Given the description of an element on the screen output the (x, y) to click on. 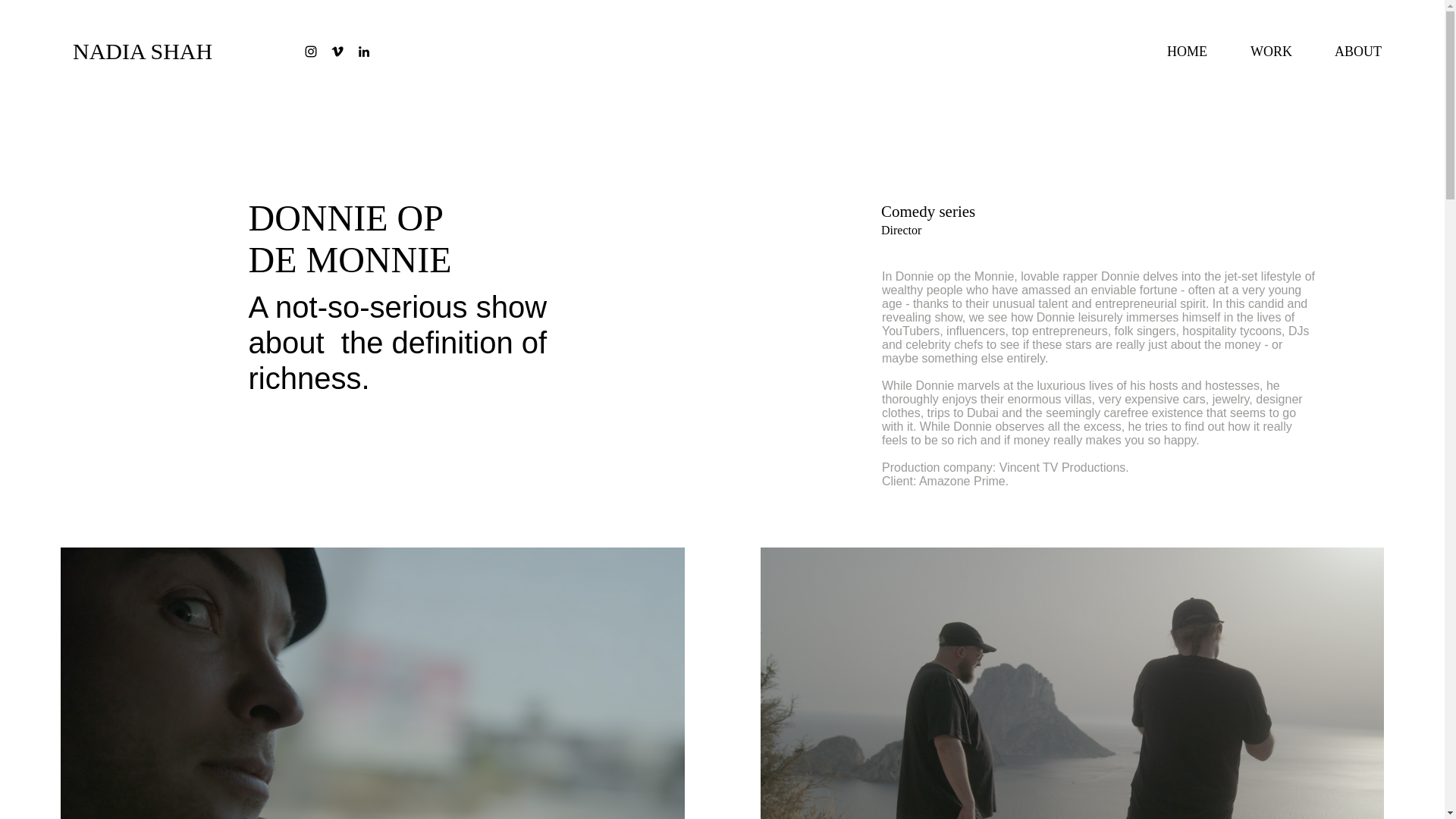
WORK (1260, 51)
ABOUT (1348, 51)
NADIA SHAH (152, 51)
HOME (1176, 51)
